Given the description of an element on the screen output the (x, y) to click on. 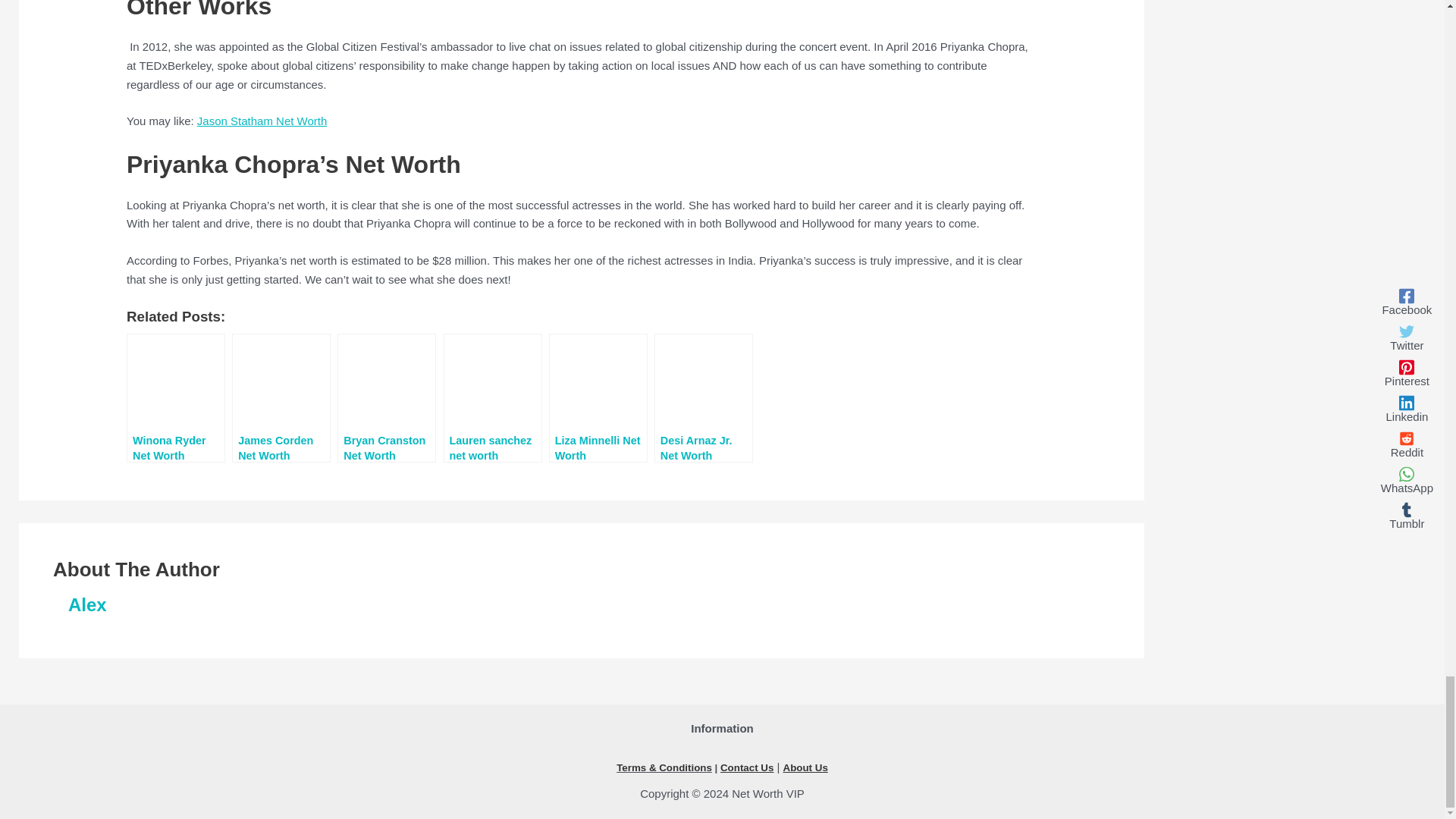
bryan cranston net worth 12 (387, 383)
winona ryder net worth 11 (176, 383)
